Given the description of an element on the screen output the (x, y) to click on. 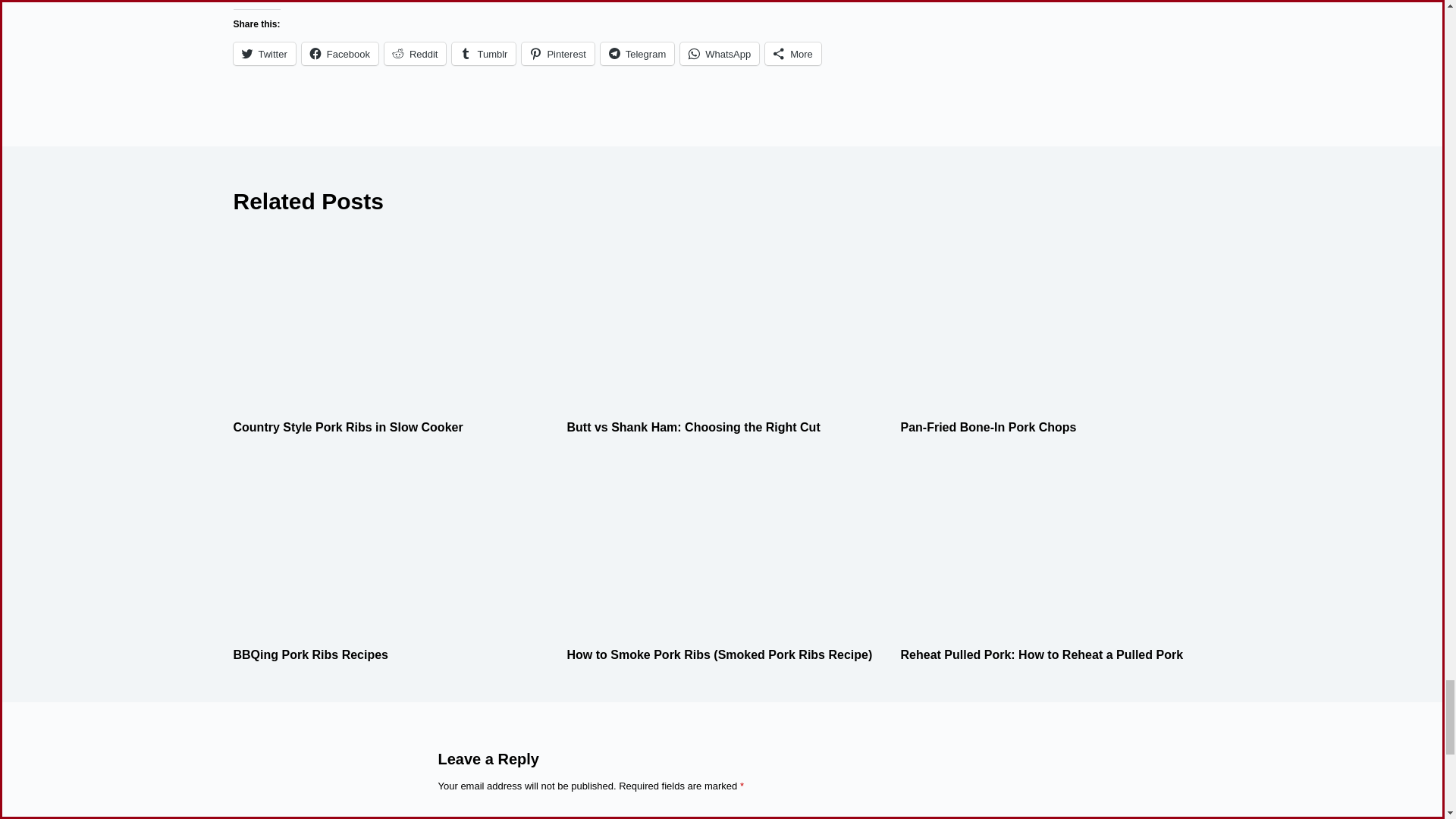
Click to share on Tumblr (483, 53)
Click to share on WhatsApp (718, 53)
Click to share on Telegram (636, 53)
Click to share on Twitter (263, 53)
Click to share on Reddit (415, 53)
Click to share on Facebook (339, 53)
Click to share on Pinterest (557, 53)
